Given the description of an element on the screen output the (x, y) to click on. 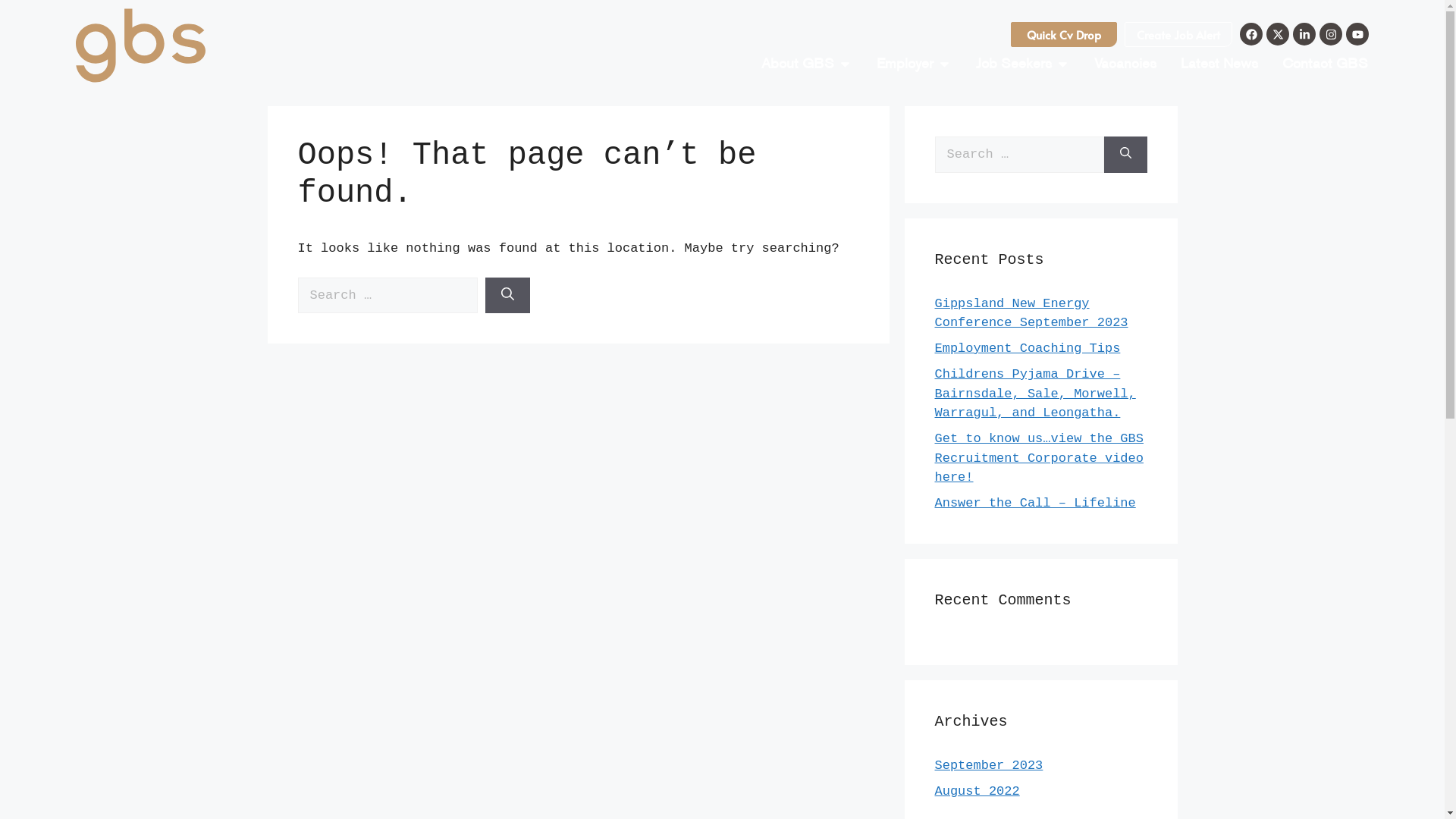
Quick Cv Drop Element type: text (1063, 34)
About GBS Element type: text (797, 64)
Job Seekers Element type: text (1013, 64)
Create Job Alert Element type: text (1178, 34)
August 2022 Element type: text (976, 791)
Contact GBS Element type: text (1325, 64)
Employment Coaching Tips Element type: text (1027, 348)
Search for: Element type: hover (386, 295)
Vacancies Element type: text (1125, 64)
Search for: Element type: hover (1018, 154)
Gippsland New Energy Conference September 2023 Element type: text (1030, 312)
Latest News Element type: text (1219, 64)
Employer Element type: text (904, 64)
September 2023 Element type: text (988, 765)
